Given the description of an element on the screen output the (x, y) to click on. 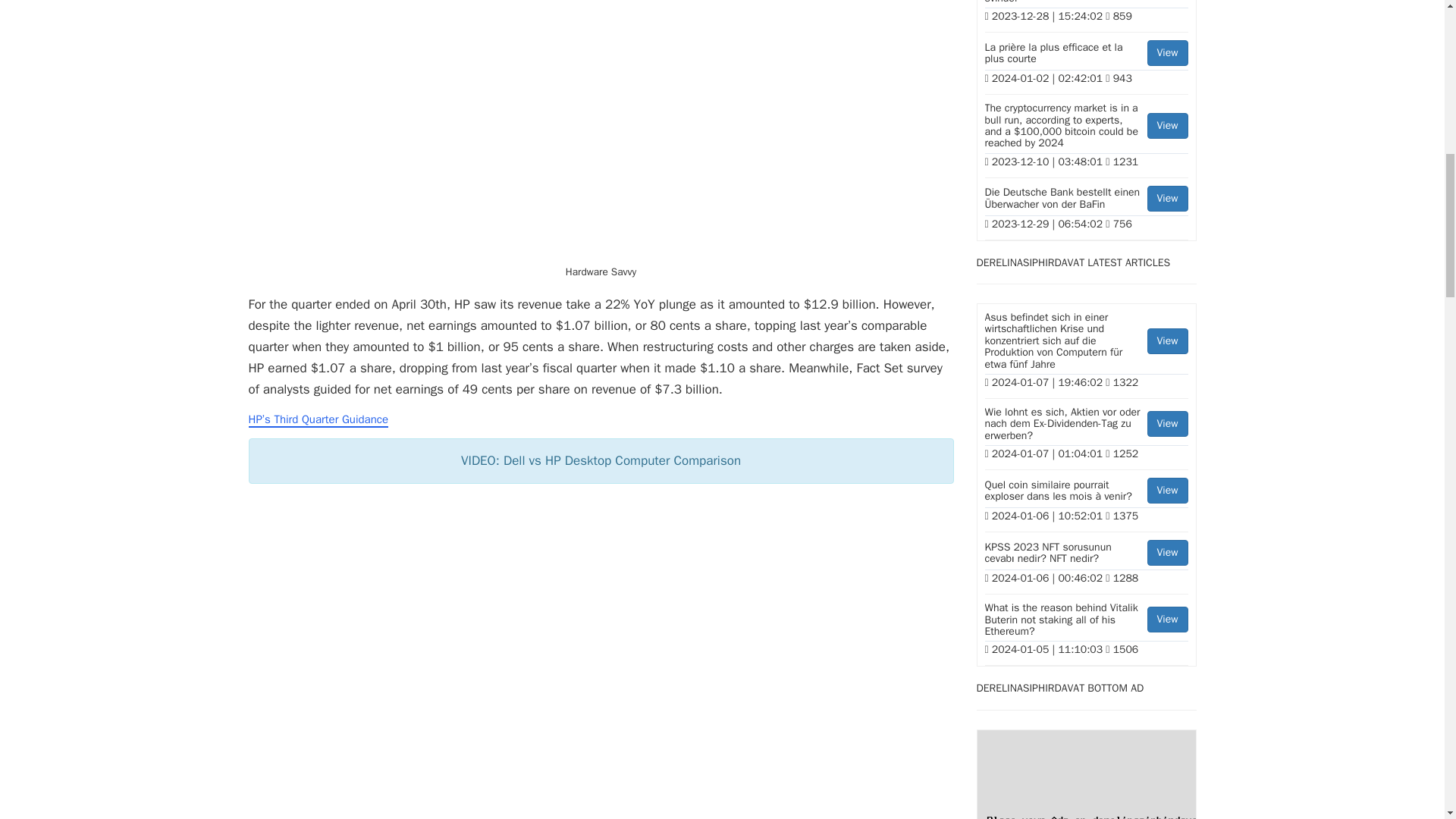
View (1167, 340)
View (1167, 423)
View (1167, 198)
View (1167, 53)
View (1167, 125)
View (1167, 490)
